Given the description of an element on the screen output the (x, y) to click on. 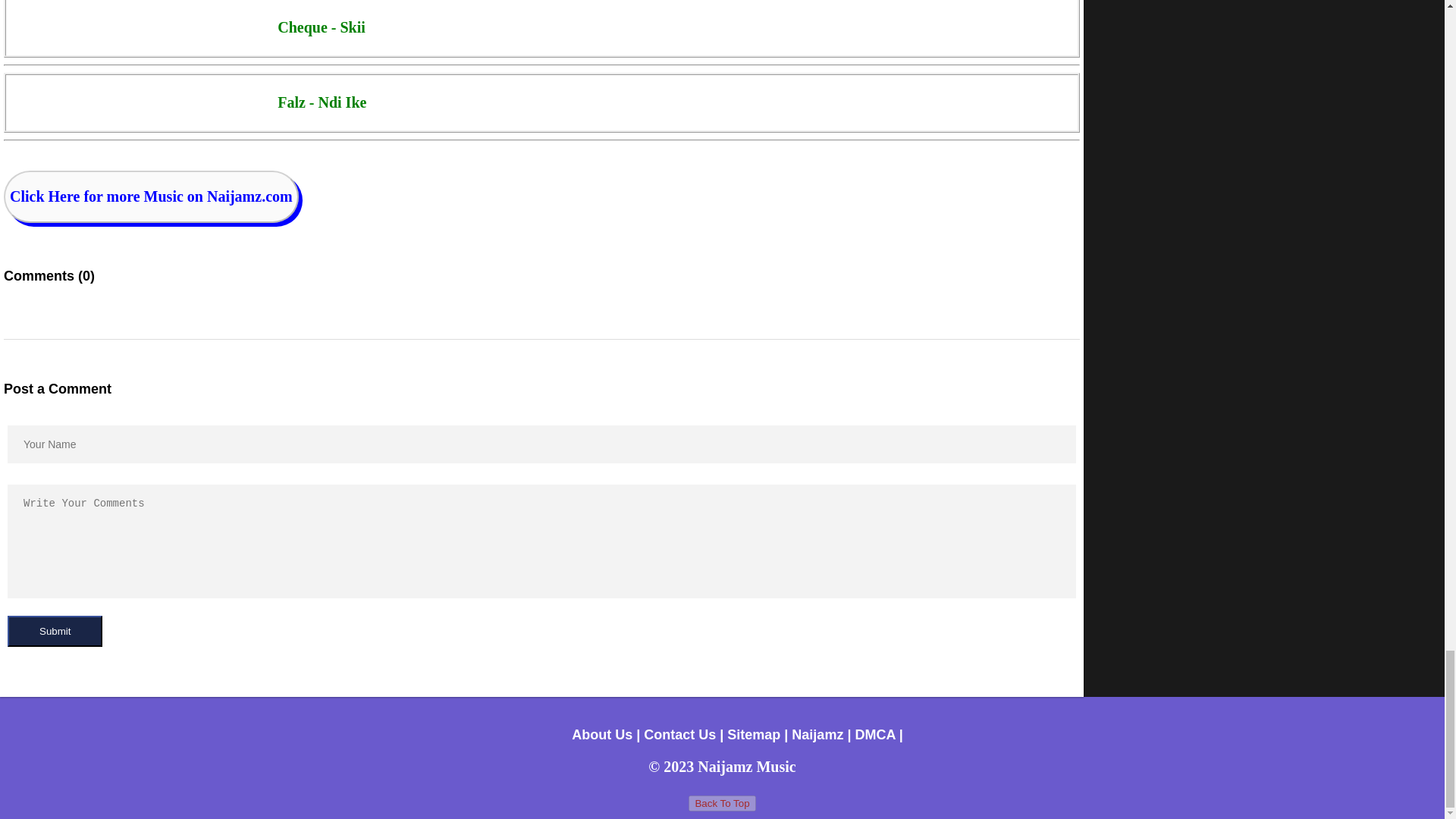
Go to top (721, 803)
